Given the description of an element on the screen output the (x, y) to click on. 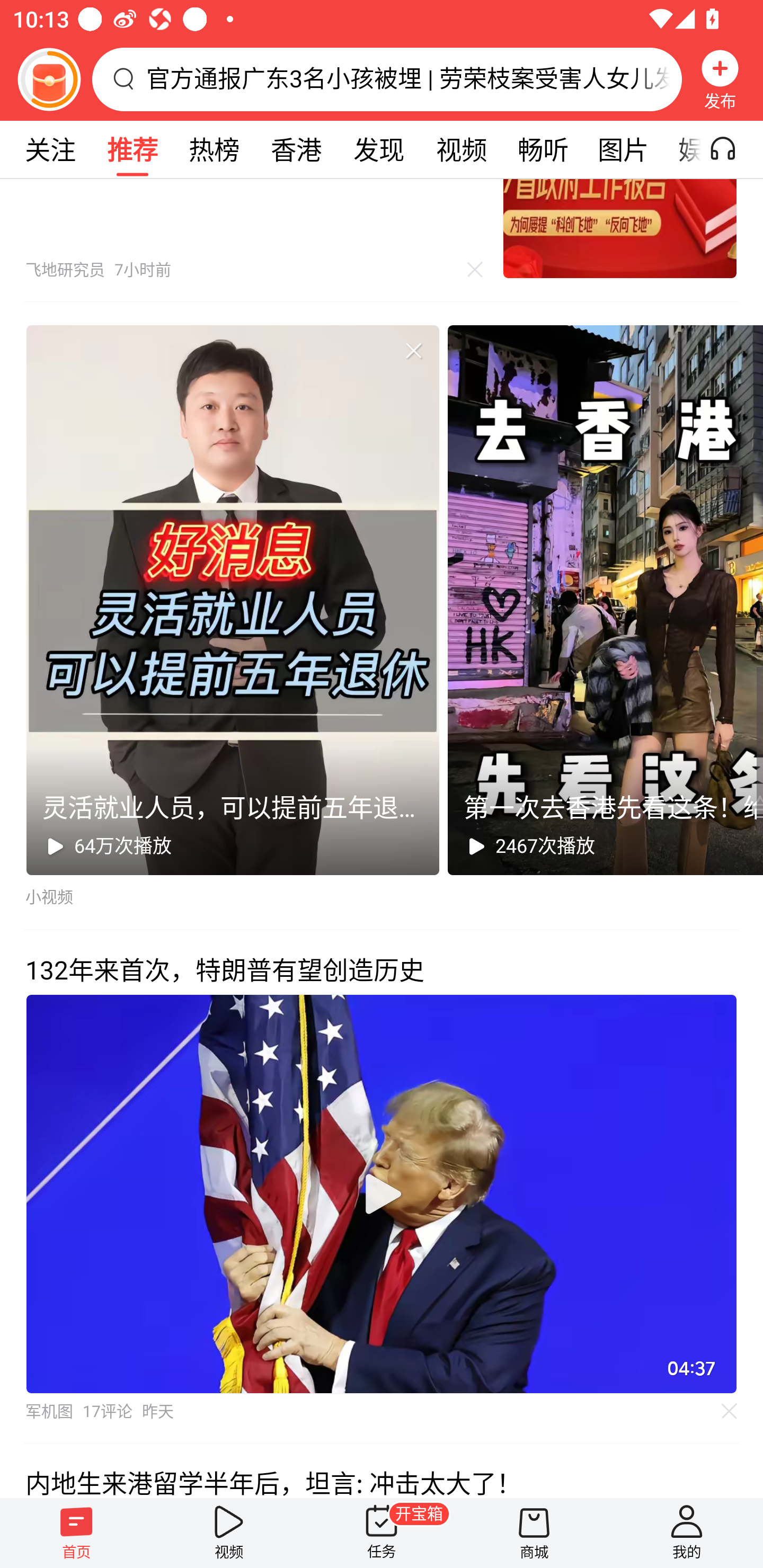
阅读赚金币 (48, 79)
发布 发布，按钮 (720, 78)
关注 (50, 149)
推荐 (132, 149)
热榜 (213, 149)
香港 (295, 149)
发现 (378, 149)
视频 (461, 149)
畅听 (542, 149)
图片 (623, 149)
听一听开关 (732, 149)
不感兴趣 (474, 269)
不感兴趣 (413, 350)
播放视频 视频播放器，双击屏幕打开播放控制 (381, 1193)
播放视频 (381, 1193)
不感兴趣 (729, 1411)
首页 (76, 1532)
视频 (228, 1532)
任务 开宝箱 (381, 1532)
商城 (533, 1532)
我的 (686, 1532)
